Given the description of an element on the screen output the (x, y) to click on. 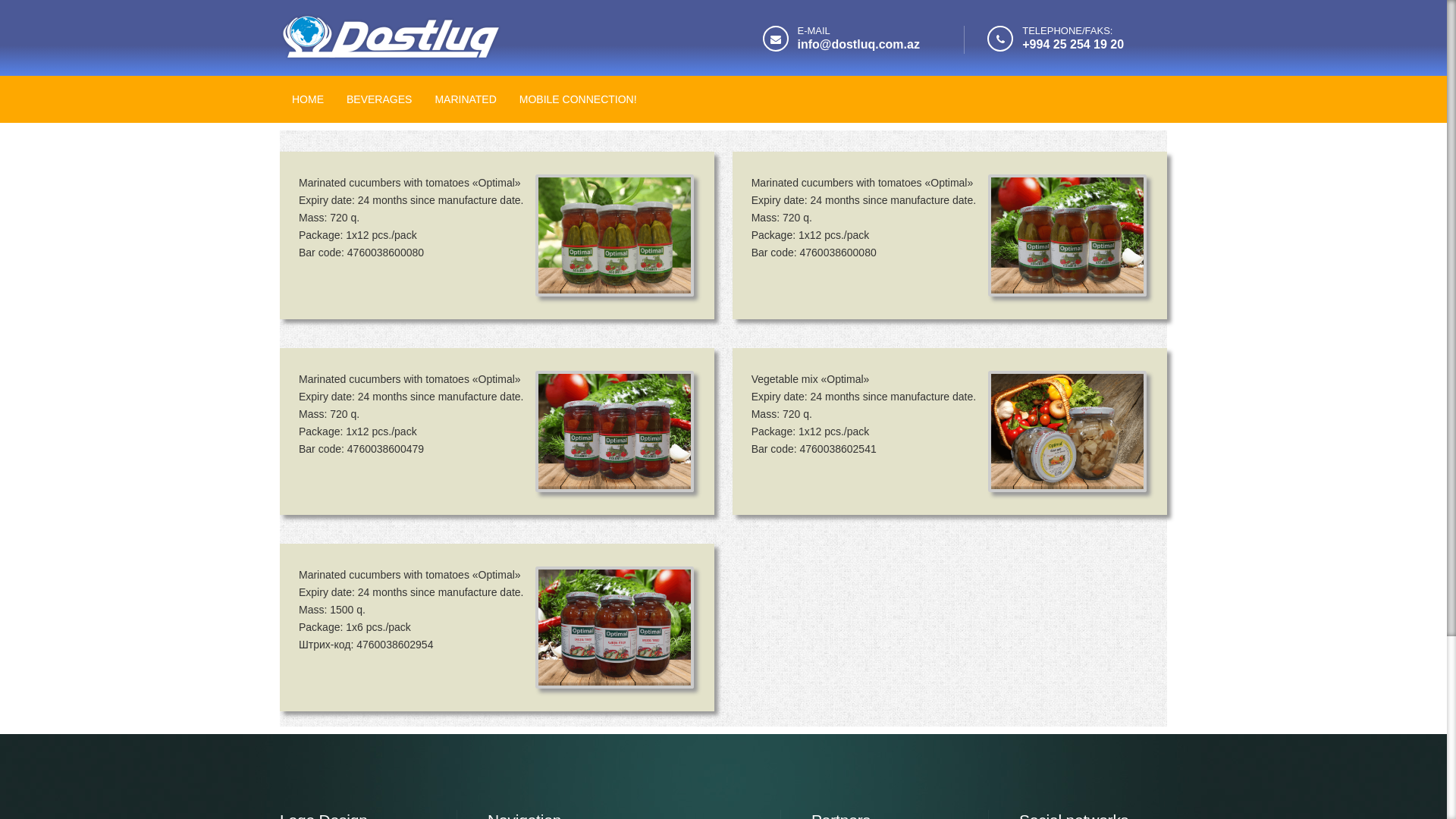
MOBILE CONNECTION! Element type: text (578, 97)
HOME Element type: text (307, 97)
BEVERAGES Element type: text (379, 97)
MARINATED Element type: text (465, 97)
info@dostluq.com.az Element type: text (858, 43)
